Given the description of an element on the screen output the (x, y) to click on. 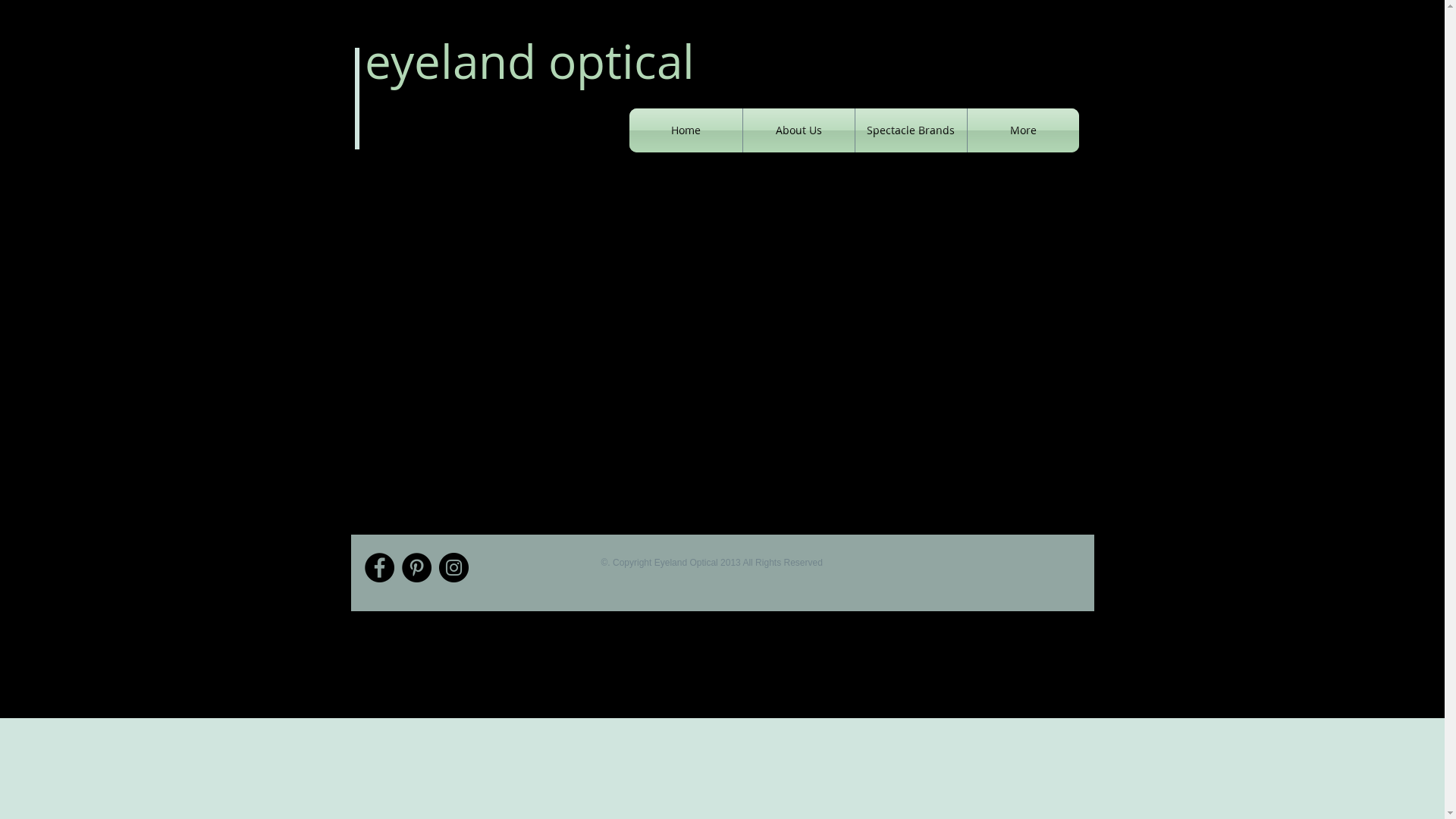
About Us Element type: text (798, 130)
Spectacle Brands Element type: text (910, 130)
Home Element type: text (685, 130)
